Given the description of an element on the screen output the (x, y) to click on. 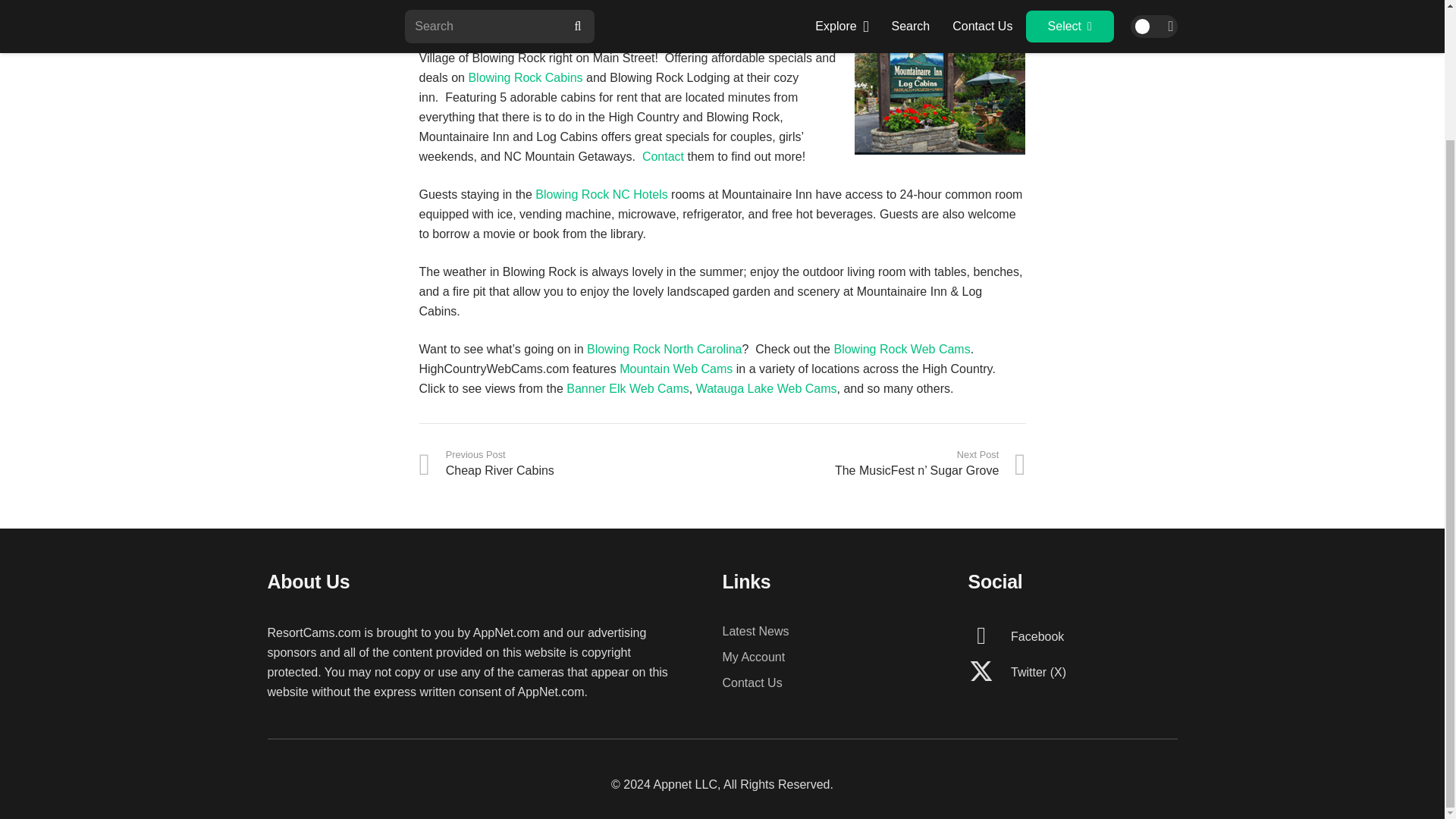
Cheap River Cabins (570, 463)
Blowing Rock NC Hotels (600, 194)
Mountain Web Cams (676, 368)
Blowing Rock Cabins (524, 77)
Blowing Rock Web Cams (900, 349)
Blowing Rock North Carolina (664, 349)
Contact (663, 155)
Banner Elk Web Cams (627, 388)
Watauga Lake Web Cams (766, 388)
